Given the description of an element on the screen output the (x, y) to click on. 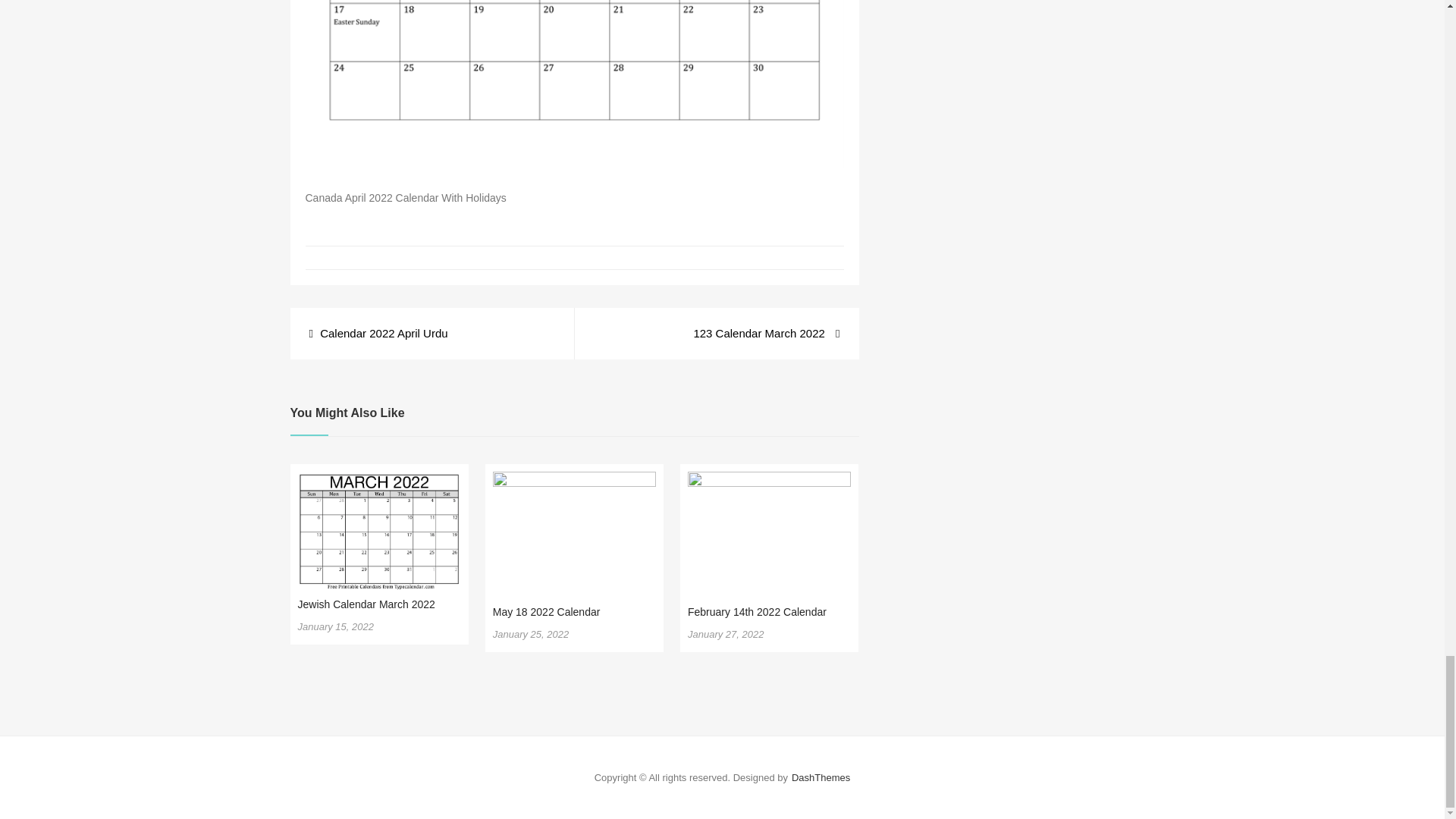
DashThemes (821, 777)
123 Calendar March 2022 (766, 333)
Calendar 2022 April Urdu (378, 333)
May 18 2022 Calendar (546, 612)
February 14th 2022 Calendar (757, 612)
Jewish Calendar March 2022 (365, 604)
